Given the description of an element on the screen output the (x, y) to click on. 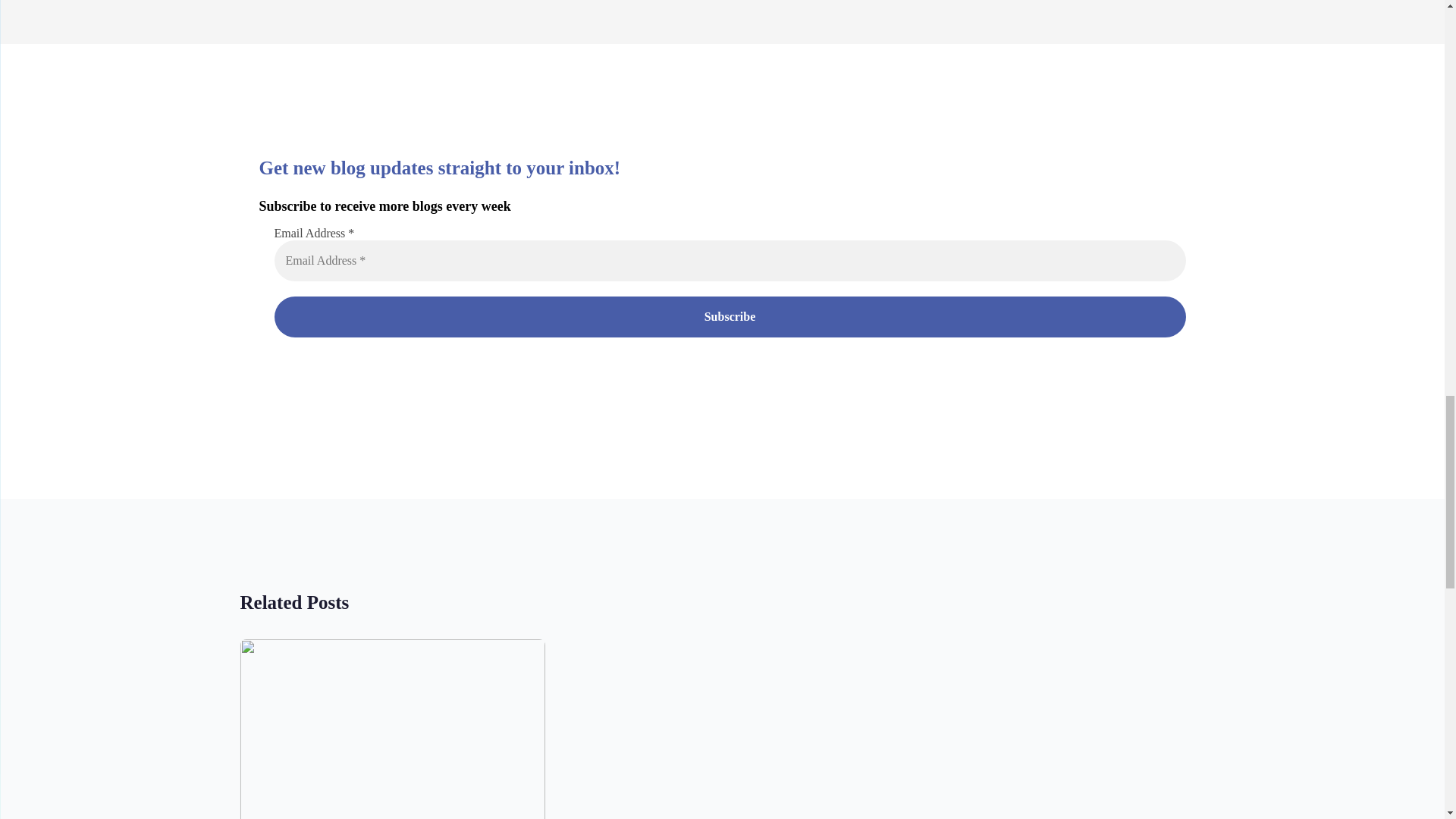
Subscribe (730, 316)
Email Address (730, 260)
Subscribe (730, 316)
